Given the description of an element on the screen output the (x, y) to click on. 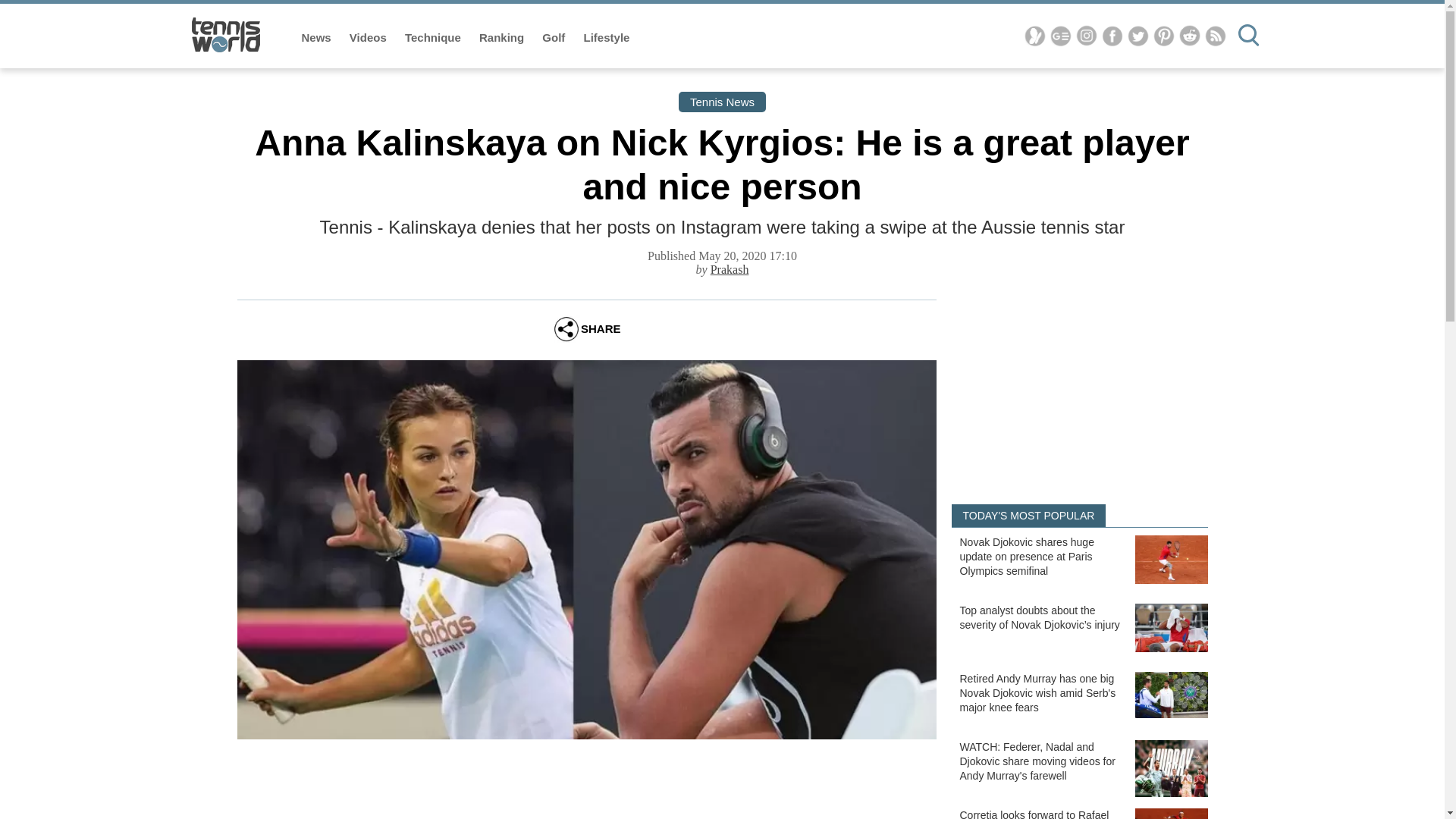
Golf (554, 37)
Technique (434, 37)
News (317, 37)
Ranking (503, 37)
Videos (369, 37)
Lifestyle (606, 37)
